Given the description of an element on the screen output the (x, y) to click on. 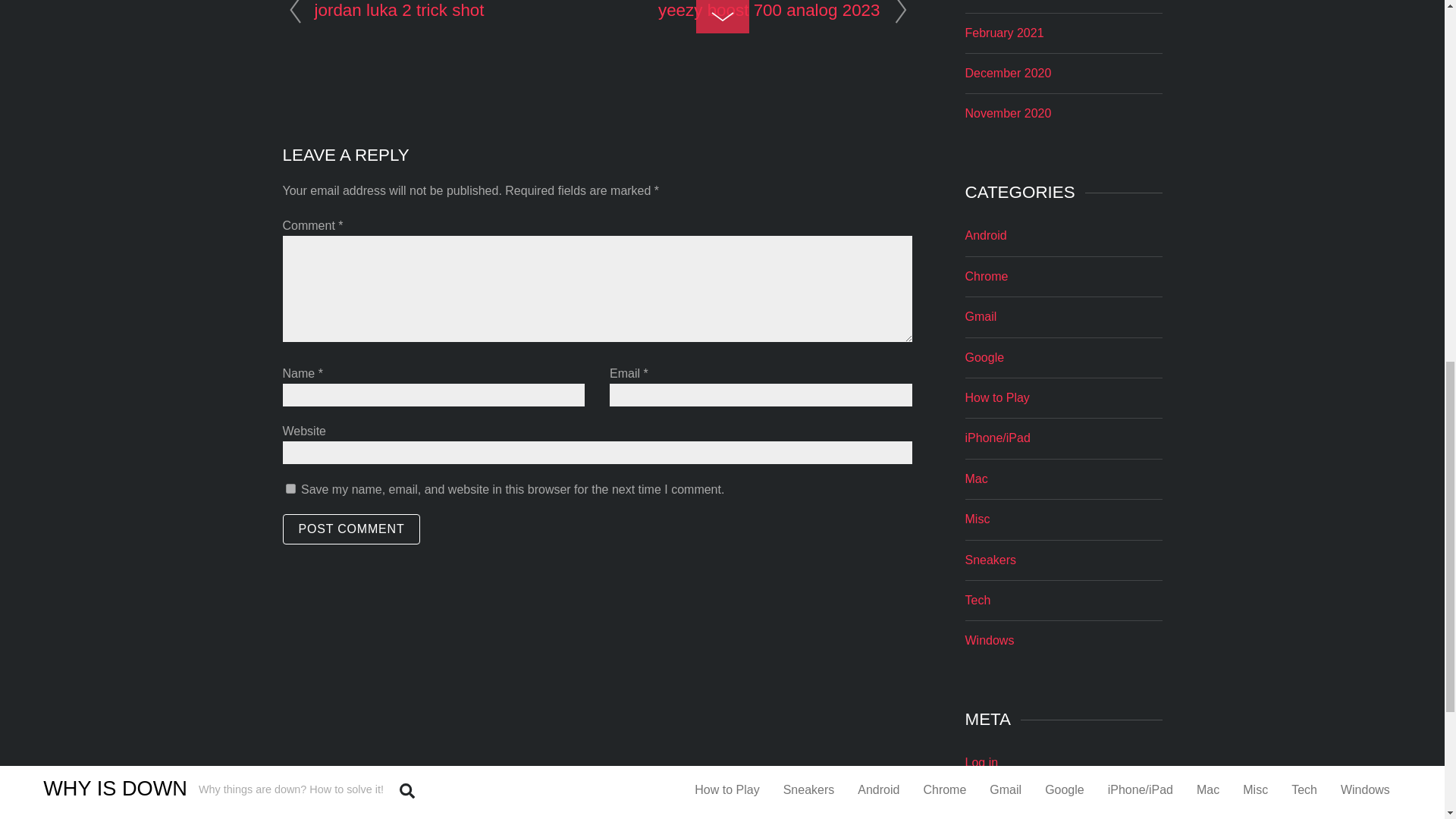
jordan luka 2 trick shot (398, 9)
yeezy boost 700 analog 2023 (769, 9)
Gmail (979, 316)
yes (290, 488)
Chrome (985, 276)
November 2020 (1007, 113)
Post Comment (351, 529)
Android (984, 235)
Post Comment (351, 529)
December 2020 (1007, 72)
February 2021 (1003, 32)
